Given the description of an element on the screen output the (x, y) to click on. 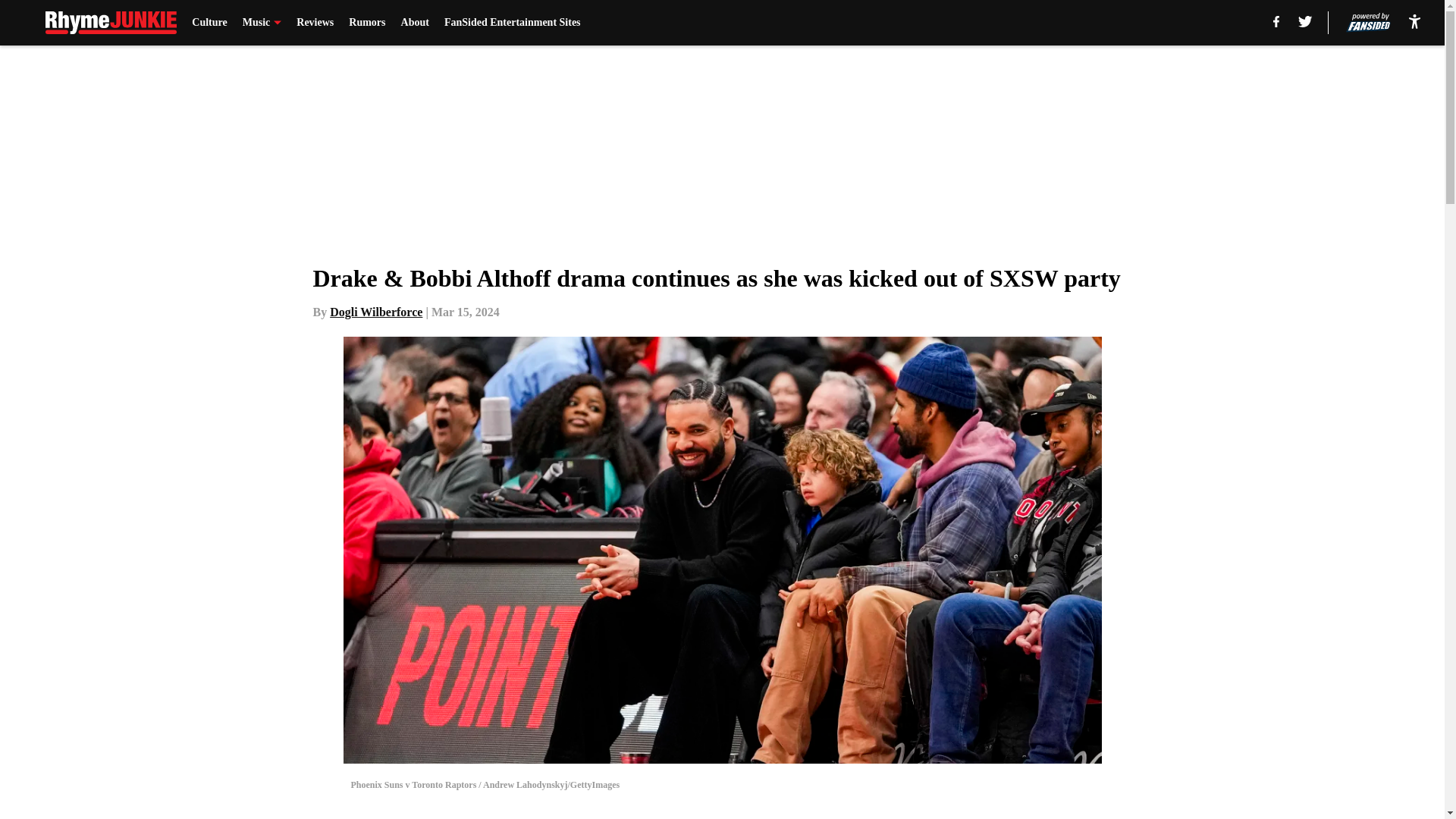
Rumors (367, 22)
Culture (209, 22)
About (415, 22)
Dogli Wilberforce (376, 311)
FanSided Entertainment Sites (512, 22)
Reviews (315, 22)
